Given the description of an element on the screen output the (x, y) to click on. 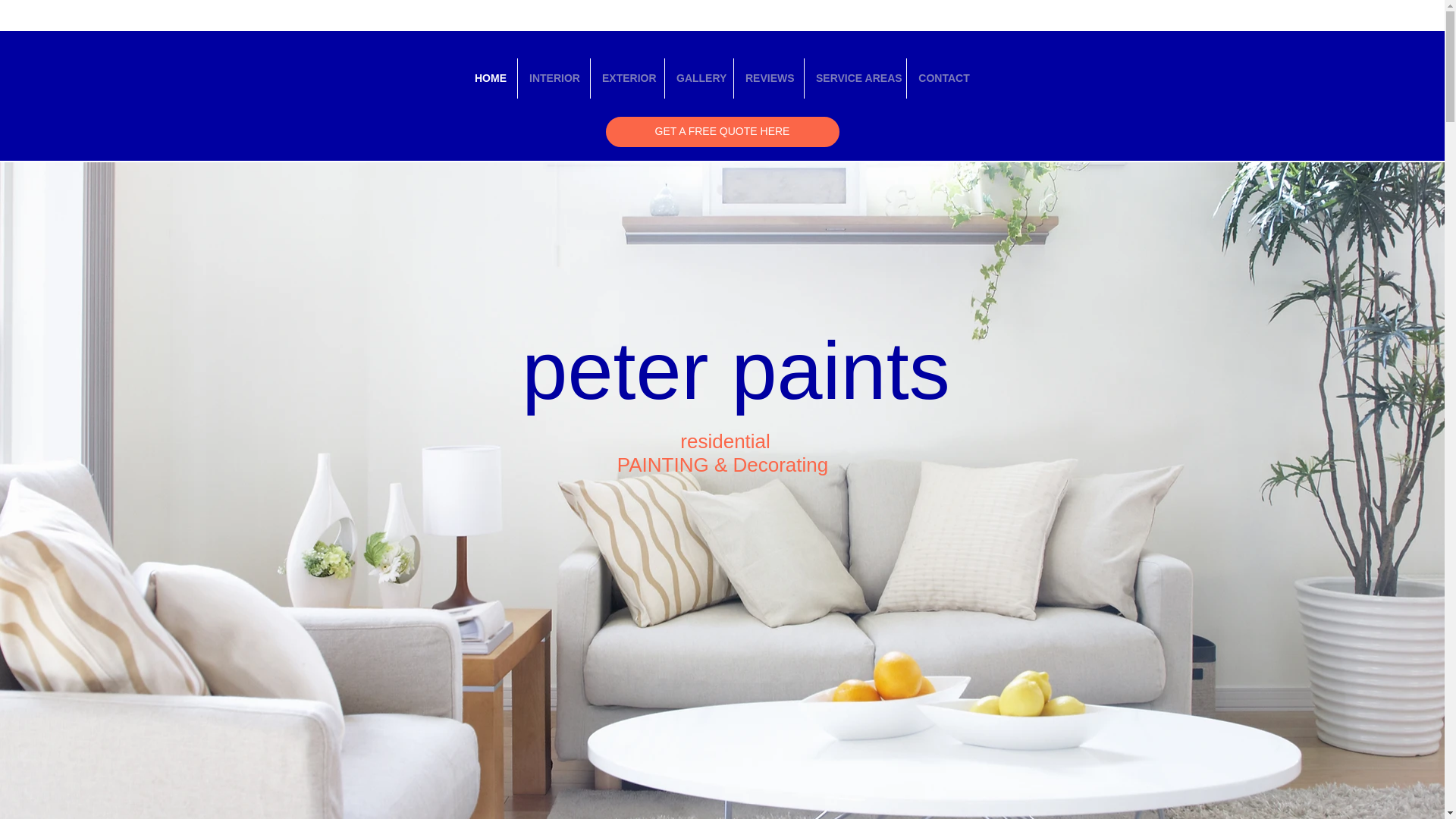
HOME (489, 78)
EXTERIOR (627, 78)
REVIEWS (768, 78)
GALLERY (699, 78)
SERVICE AREAS (855, 78)
GET A FREE QUOTE HERE (721, 132)
INTERIOR (553, 78)
CONTACT (944, 78)
